Given the description of an element on the screen output the (x, y) to click on. 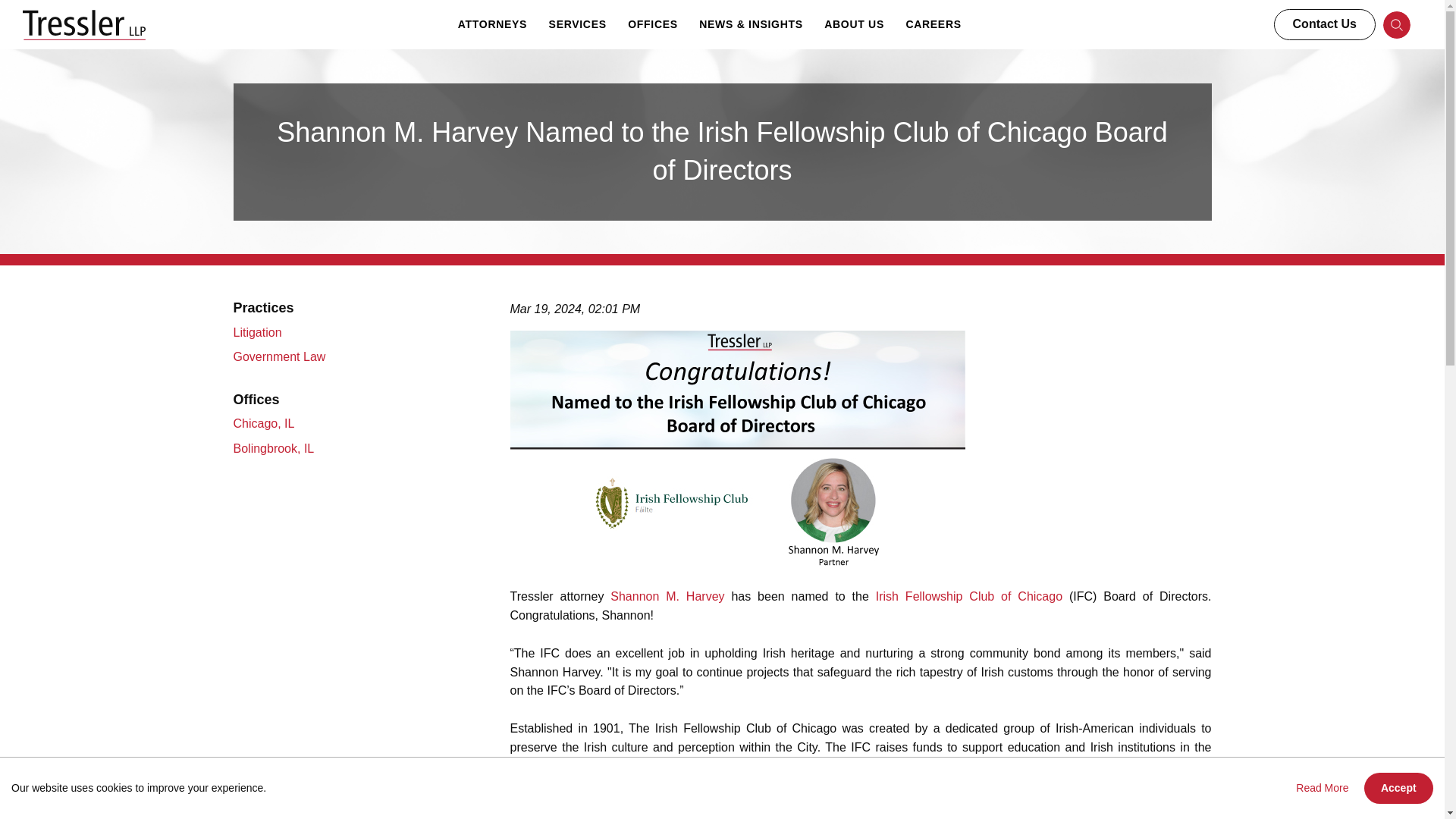
SERVICES (577, 24)
Shannon-Harvey-IFC-Board-of-Directors (736, 449)
Litigation (258, 332)
Contact Us (1324, 24)
Irish Fellowship Club of Chicago (969, 595)
CAREERS (932, 24)
Bolingbrook, IL (275, 448)
Chicago, IL (265, 423)
Government Law (281, 356)
Shannon M. Harvey (666, 595)
ABOUT US (854, 24)
Irish Fellowship Club of Chicago Logo (622, 807)
OFFICES (652, 24)
ATTORNEYS (491, 24)
